Given the description of an element on the screen output the (x, y) to click on. 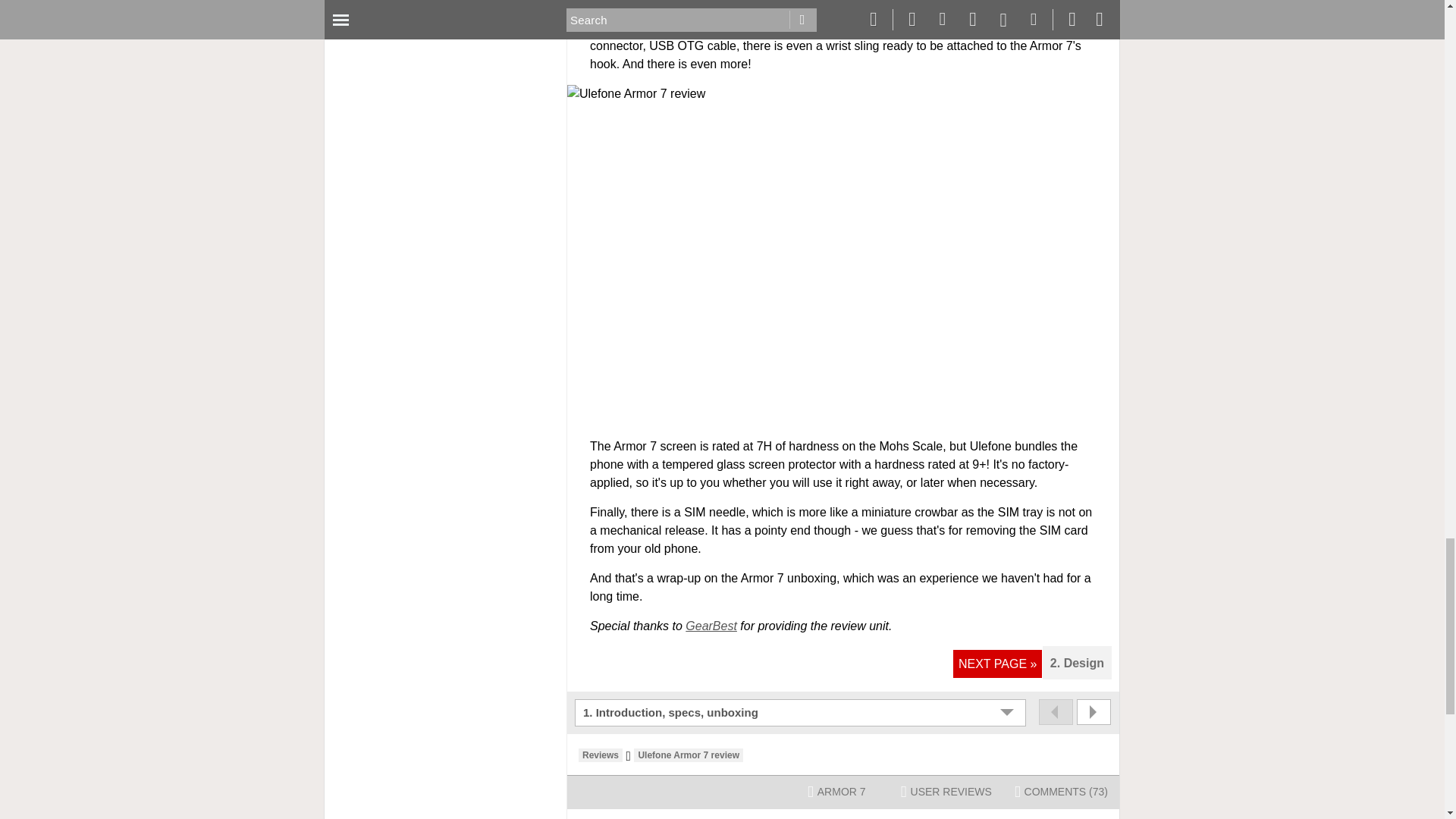
Next page (1093, 711)
Previous page (1056, 711)
1. Introduction, specs, unboxing (802, 712)
